Given the description of an element on the screen output the (x, y) to click on. 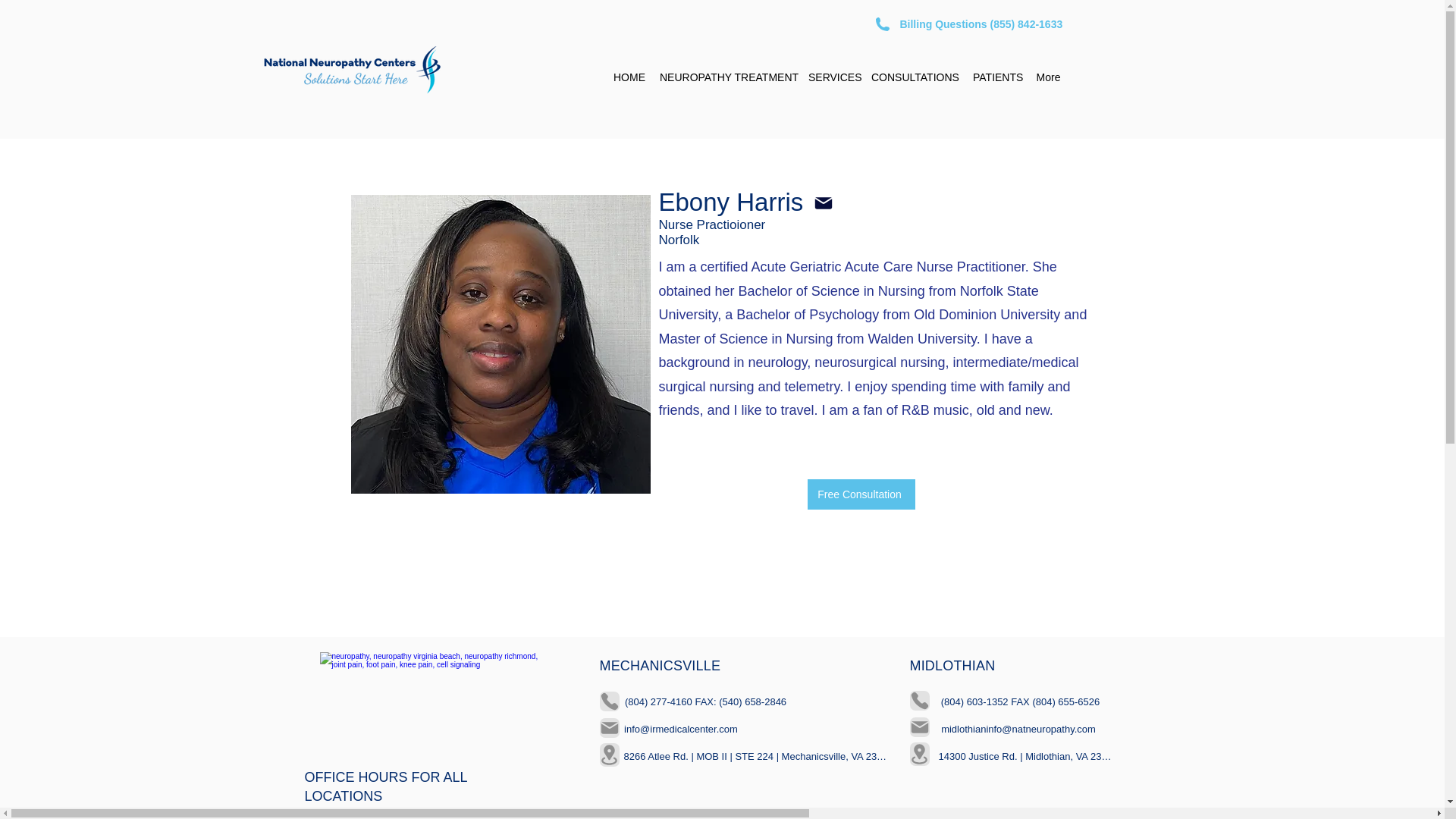
PATIENTS (996, 77)
HOME (628, 77)
NEUROPATHY TREATMENT (726, 77)
Free Consultation (860, 494)
CONSULTATIONS (914, 77)
